Given the description of an element on the screen output the (x, y) to click on. 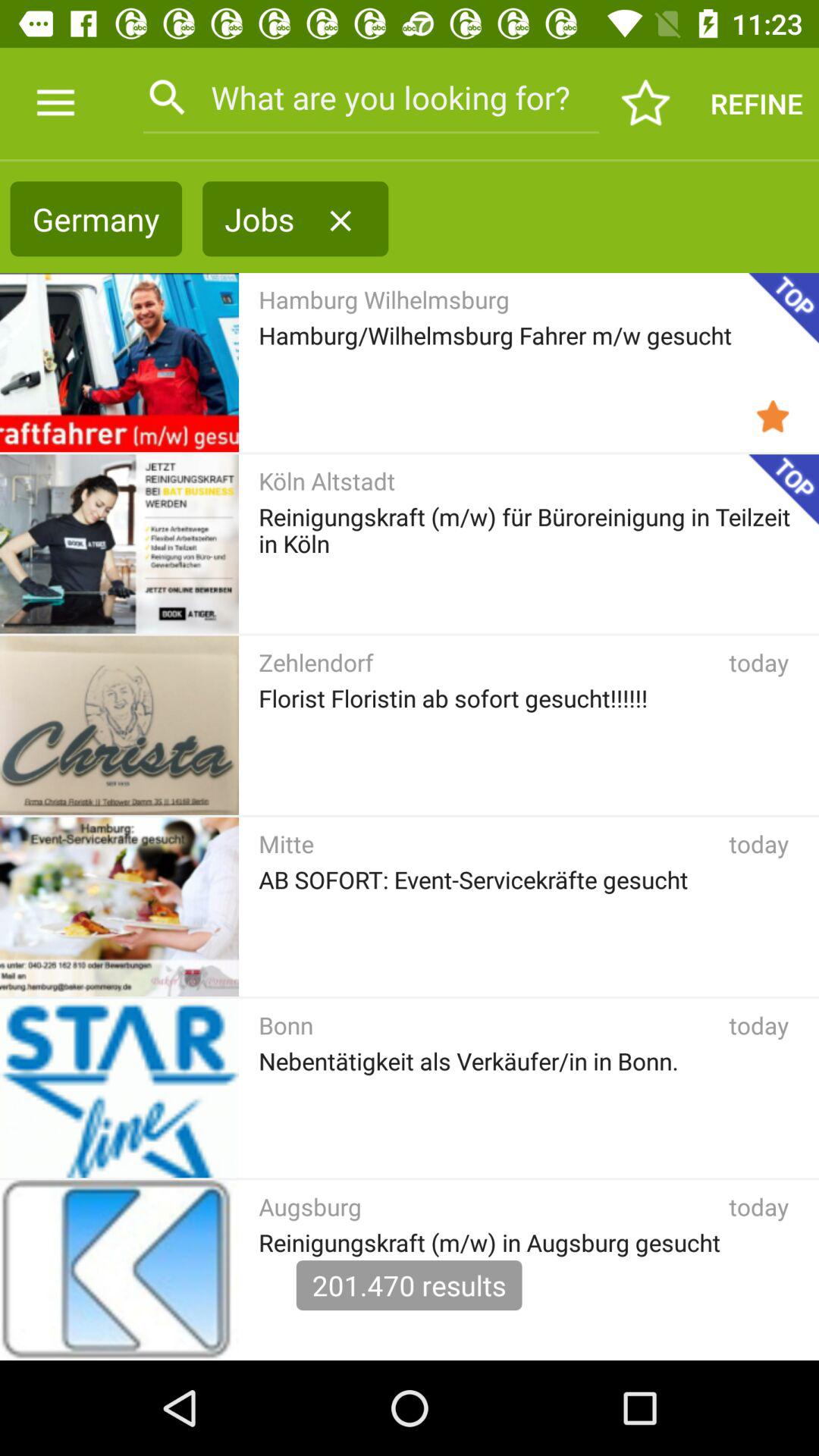
turn off icon to the left of the refine (646, 103)
